Given the description of an element on the screen output the (x, y) to click on. 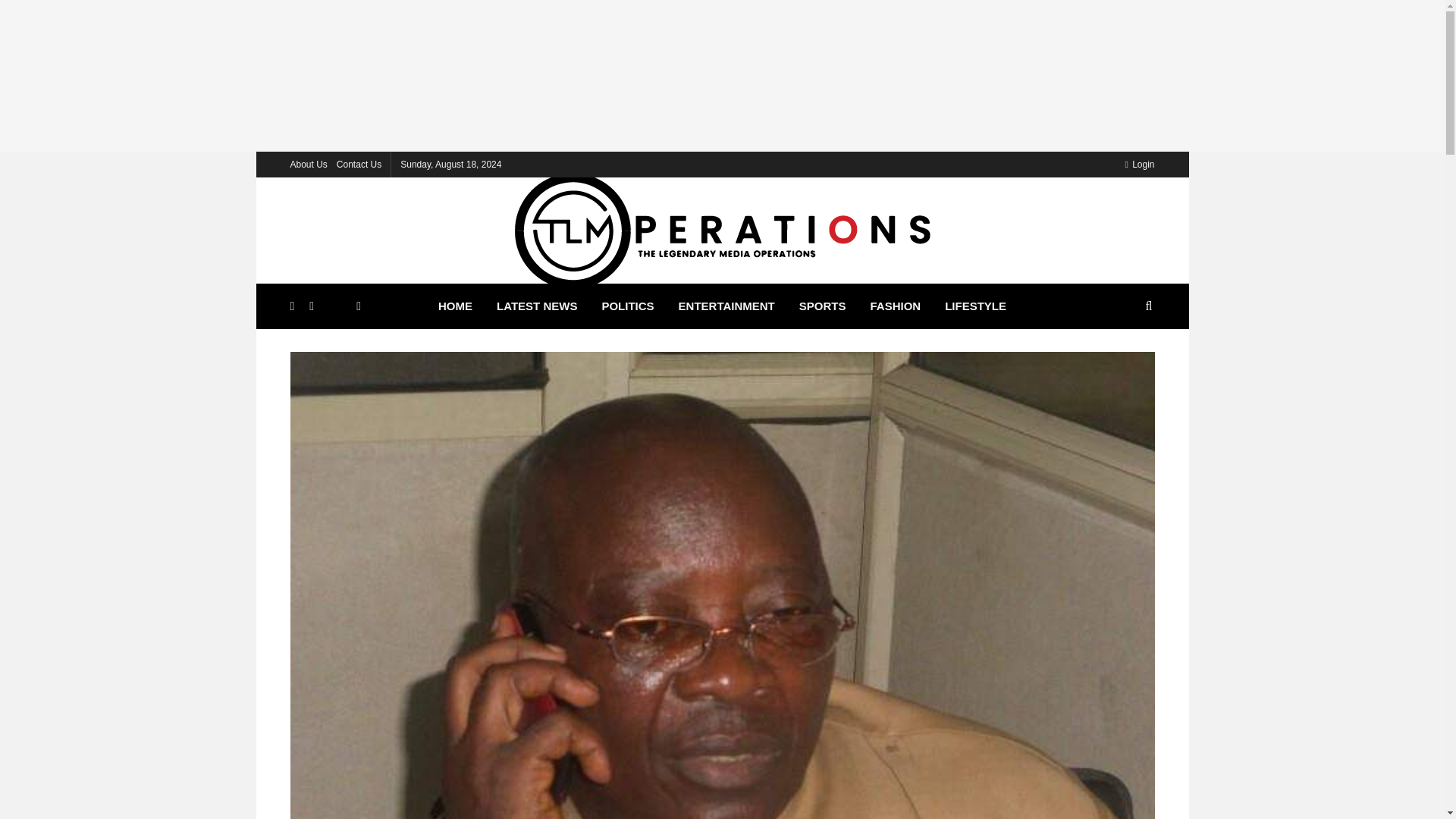
HOME (455, 306)
LATEST NEWS (536, 306)
POLITICS (627, 306)
Login (1139, 164)
ENTERTAINMENT (726, 306)
About Us (307, 164)
Contact Us (358, 164)
SPORTS (823, 306)
FASHION (895, 306)
